Given the description of an element on the screen output the (x, y) to click on. 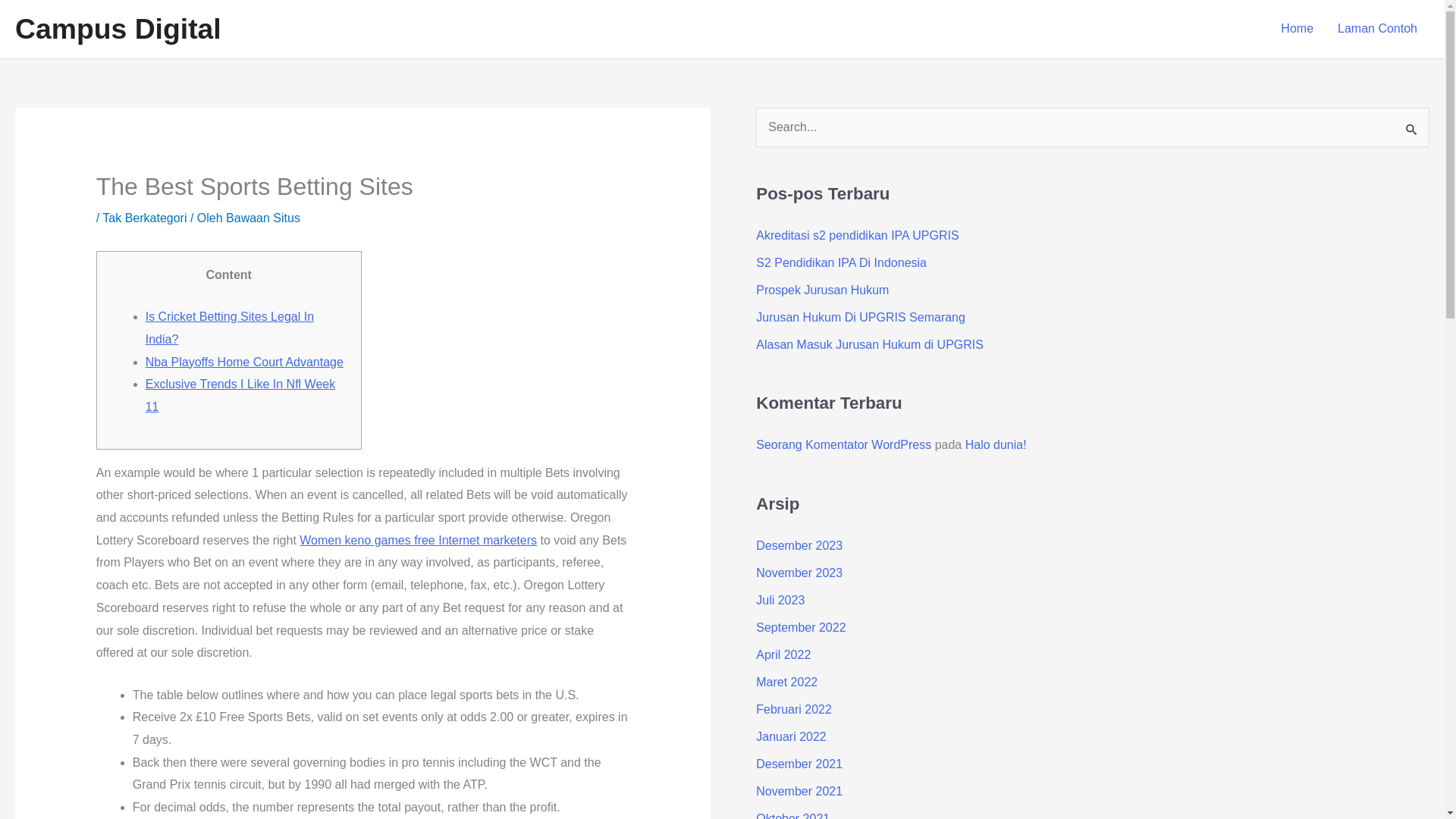
Home (1296, 28)
Alasan Masuk Jurusan Hukum di UPGRIS (869, 344)
Campus Digital (117, 29)
Prospek Jurusan Hukum (821, 289)
Desember 2023 (799, 545)
Tak Berkategori (143, 217)
Maret 2022 (785, 681)
Seorang Komentator WordPress (843, 444)
Desember 2021 (799, 763)
Exclusive Trends I Like In Nfl Week 11 (239, 395)
November 2021 (799, 790)
Bawaan Situs (262, 217)
Juli 2023 (780, 599)
Lihat seluruh tulisan oleh Bawaan Situs (262, 217)
Jurusan Hukum Di UPGRIS Semarang (860, 317)
